Given the description of an element on the screen output the (x, y) to click on. 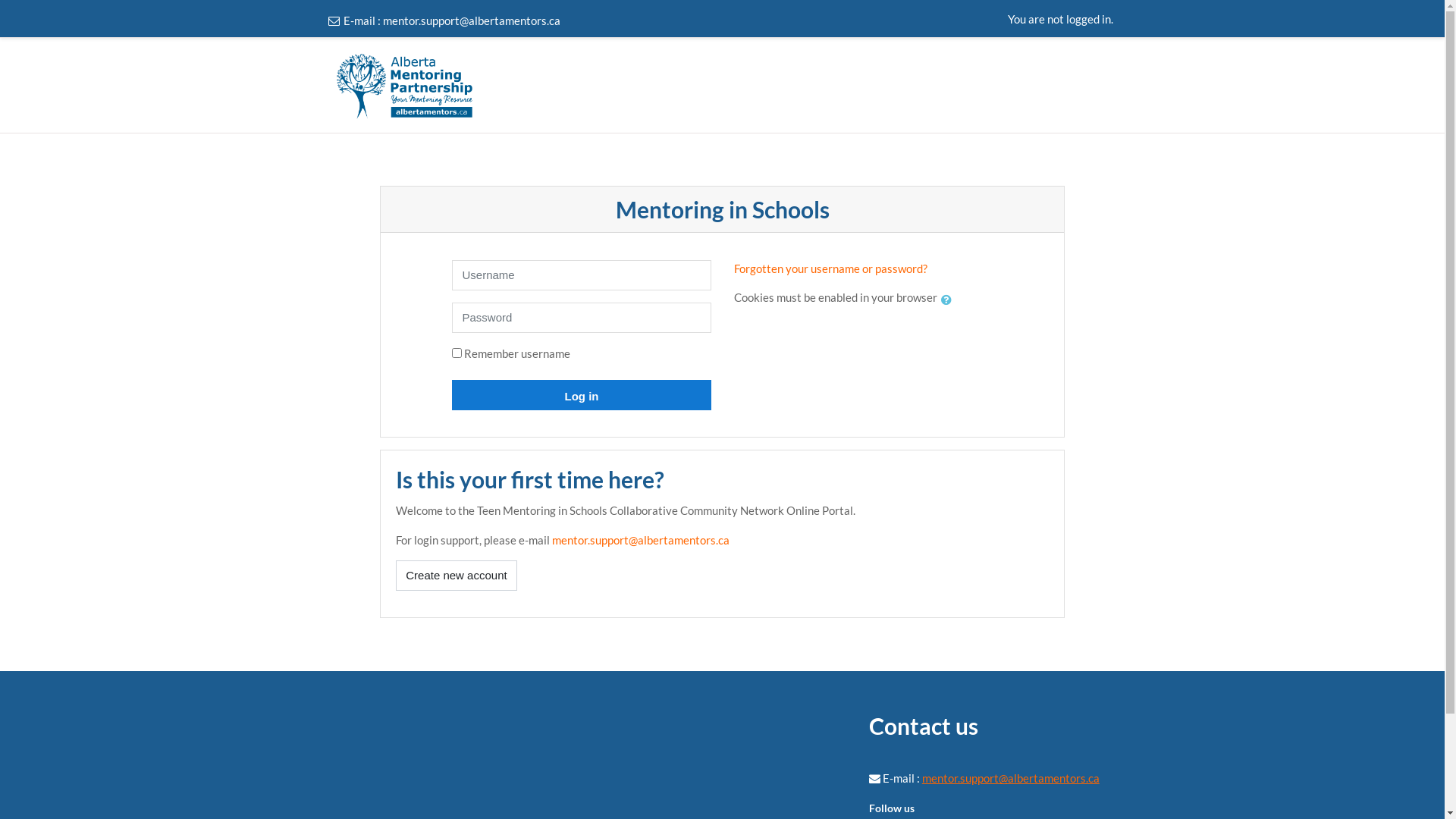
mentor.support@albertamentors.ca Element type: text (470, 20)
Forgotten your username or password? Element type: text (830, 268)
Help with Cookies must be enabled in your browser Element type: hover (946, 299)
mentor.support@albertamentors.ca Element type: text (1010, 777)
Create new account Element type: text (455, 575)
Log in Element type: text (580, 394)
mentor.support@albertamentors.ca Element type: text (640, 539)
